Given the description of an element on the screen output the (x, y) to click on. 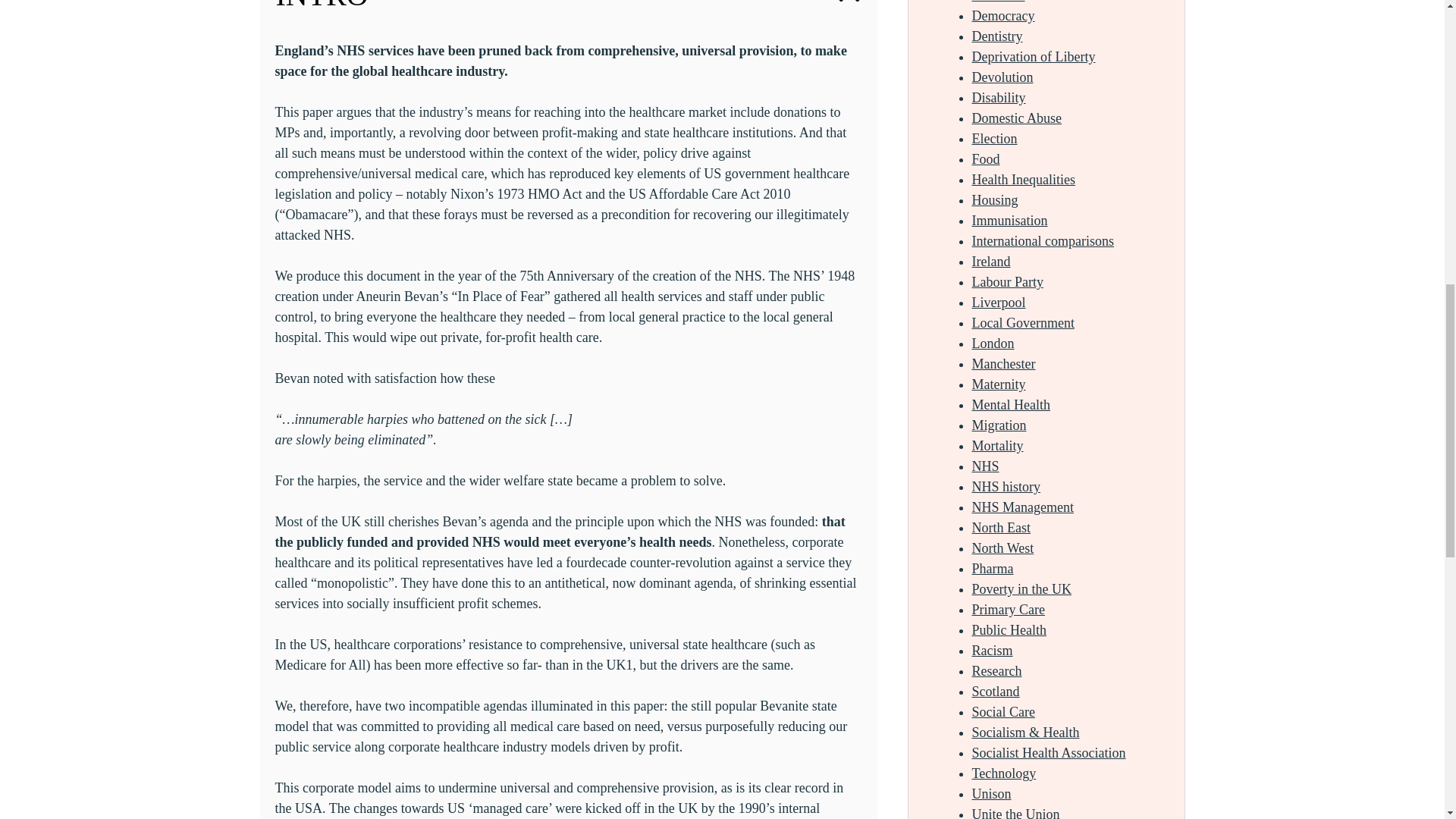
Dentistry (997, 36)
Democracy (1003, 15)
INTRO (567, 12)
Dementia (998, 1)
